Given the description of an element on the screen output the (x, y) to click on. 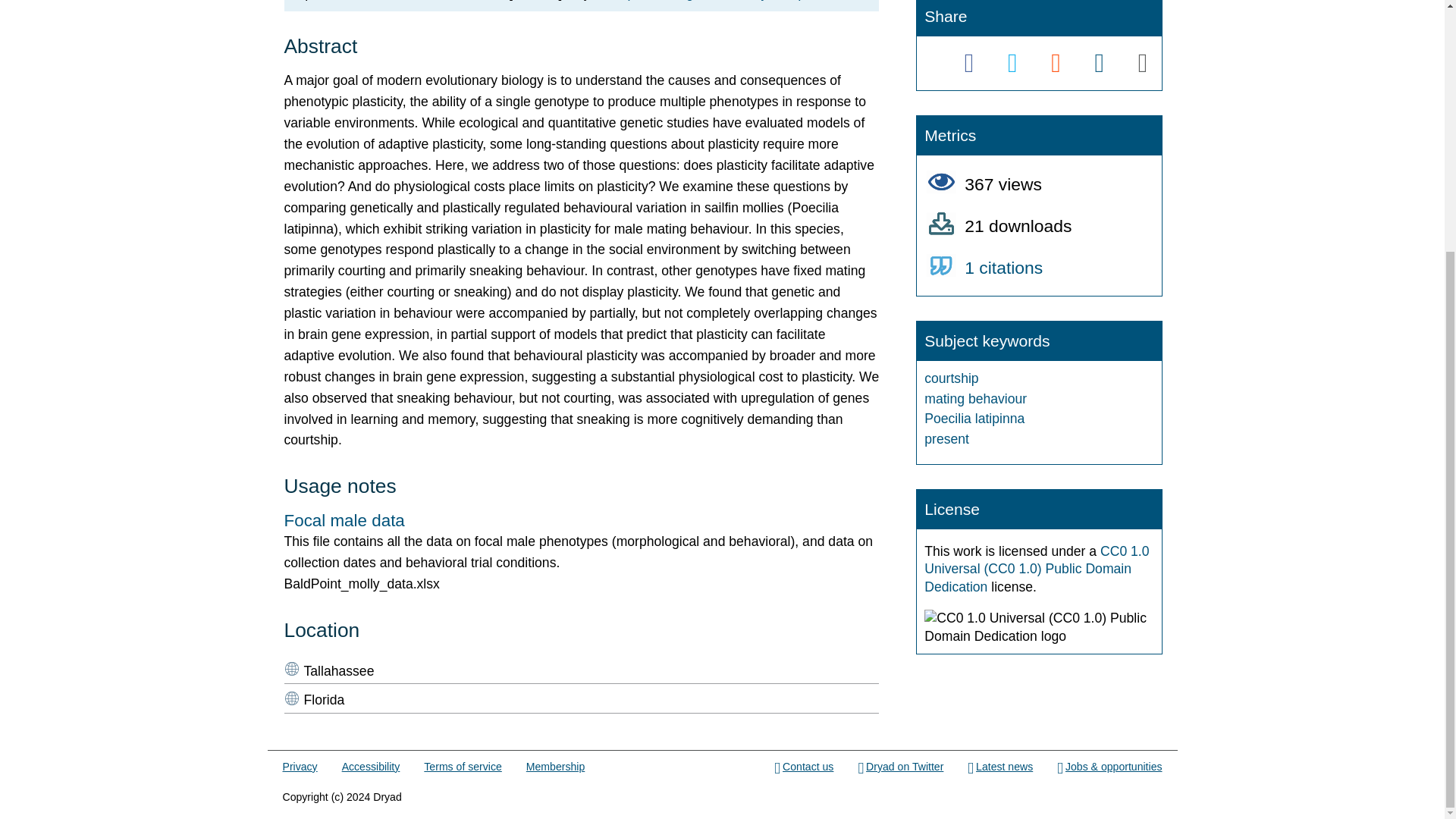
Terms of service (461, 767)
Privacy (299, 767)
Membership (555, 767)
Accessibility (371, 767)
Contact us (803, 767)
